Given the description of an element on the screen output the (x, y) to click on. 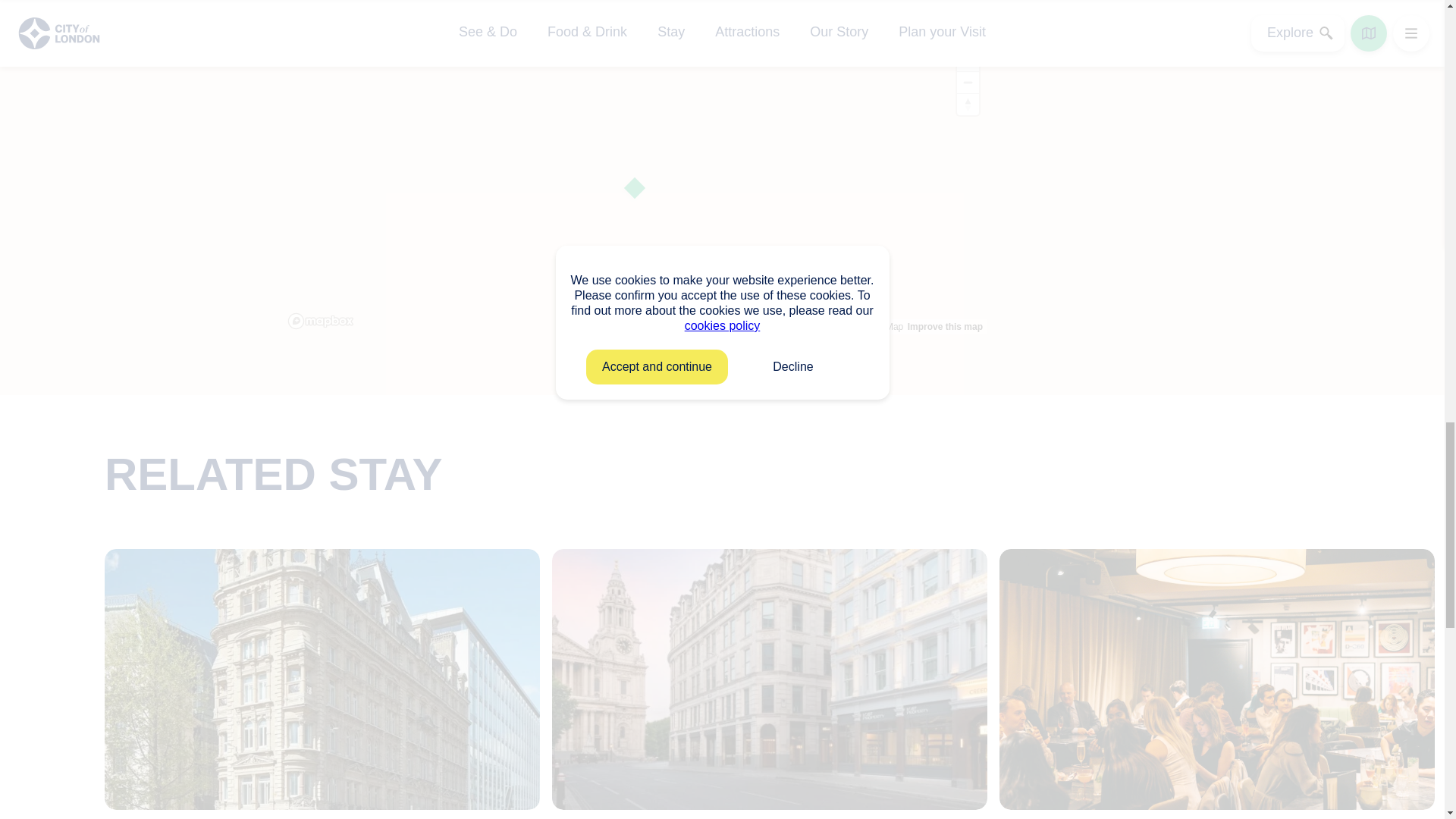
Zoom out (967, 82)
Mapbox (806, 326)
Zoom in (967, 60)
OpenStreetMap (865, 326)
Reset bearing to north (967, 104)
